Given the description of an element on the screen output the (x, y) to click on. 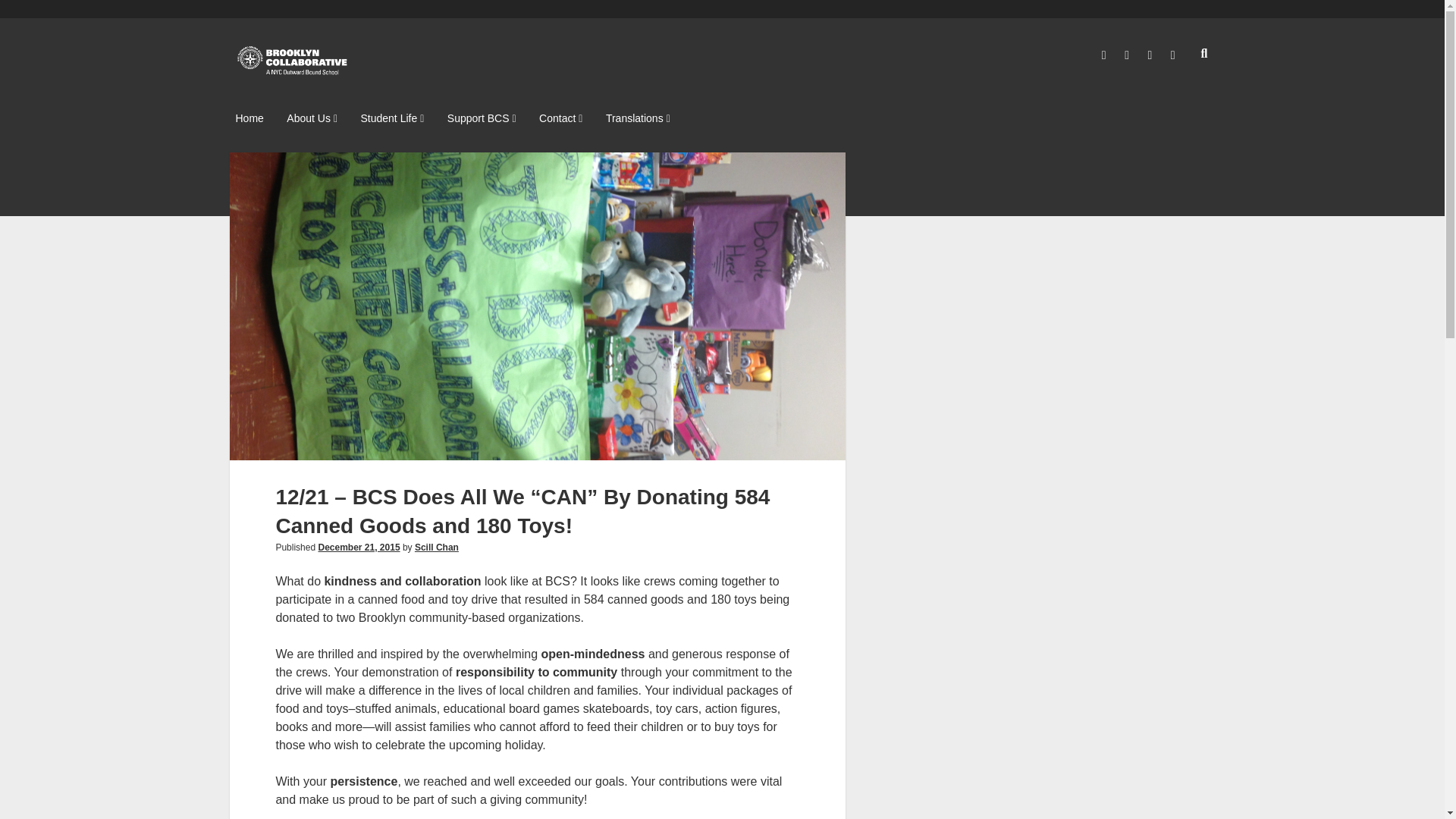
Support BCS (481, 118)
About Us (312, 118)
Student Life (391, 118)
Home (248, 118)
Brooklyn Collaborative (292, 70)
